Given the description of an element on the screen output the (x, y) to click on. 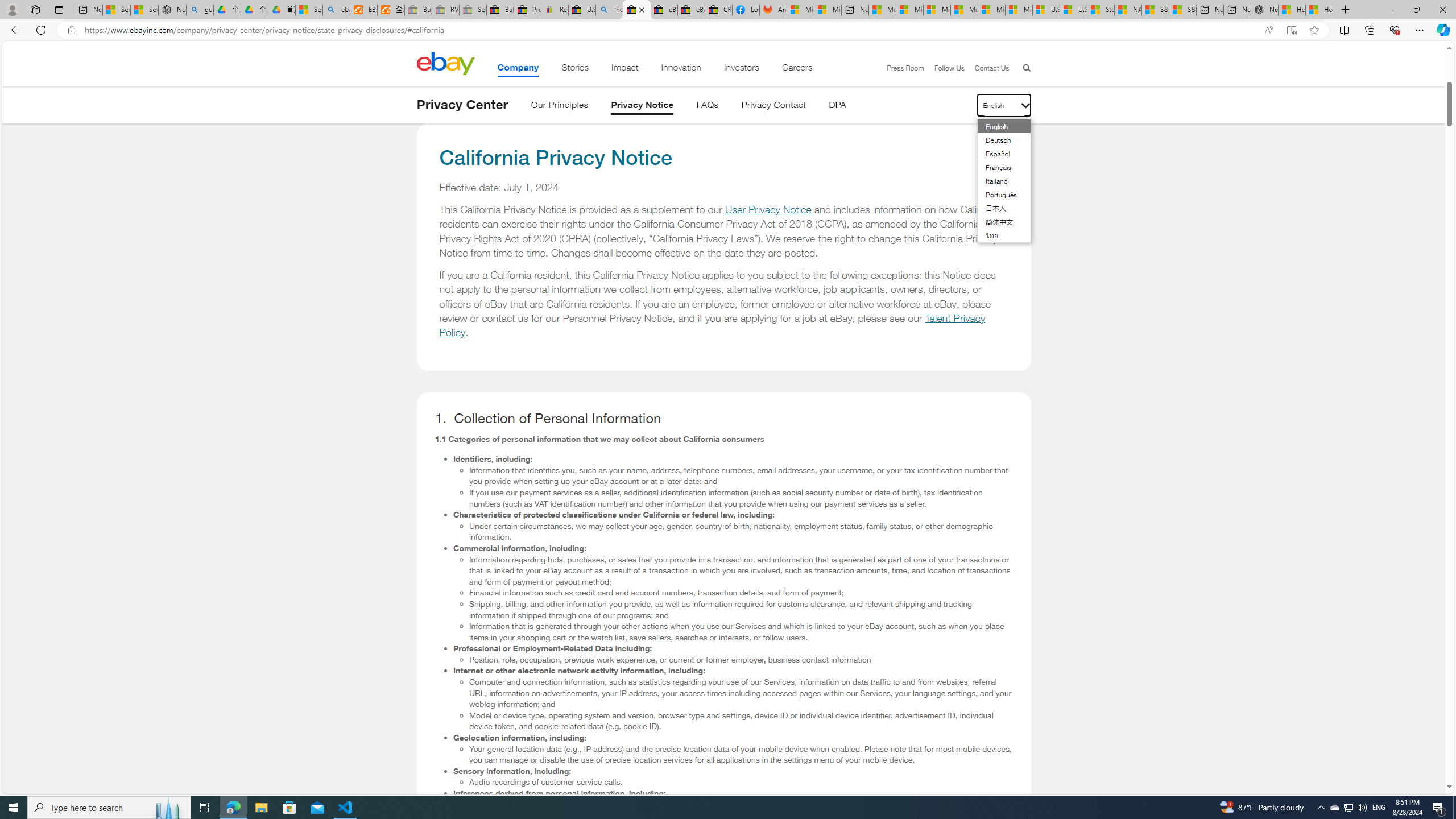
Microsoft account | Home (936, 9)
Log into Facebook (746, 9)
including - Search (609, 9)
Privacy Notice (642, 107)
Address and search bar (669, 29)
English (996, 125)
New tab (1236, 9)
Minimize (1390, 9)
